Given the description of an element on the screen output the (x, y) to click on. 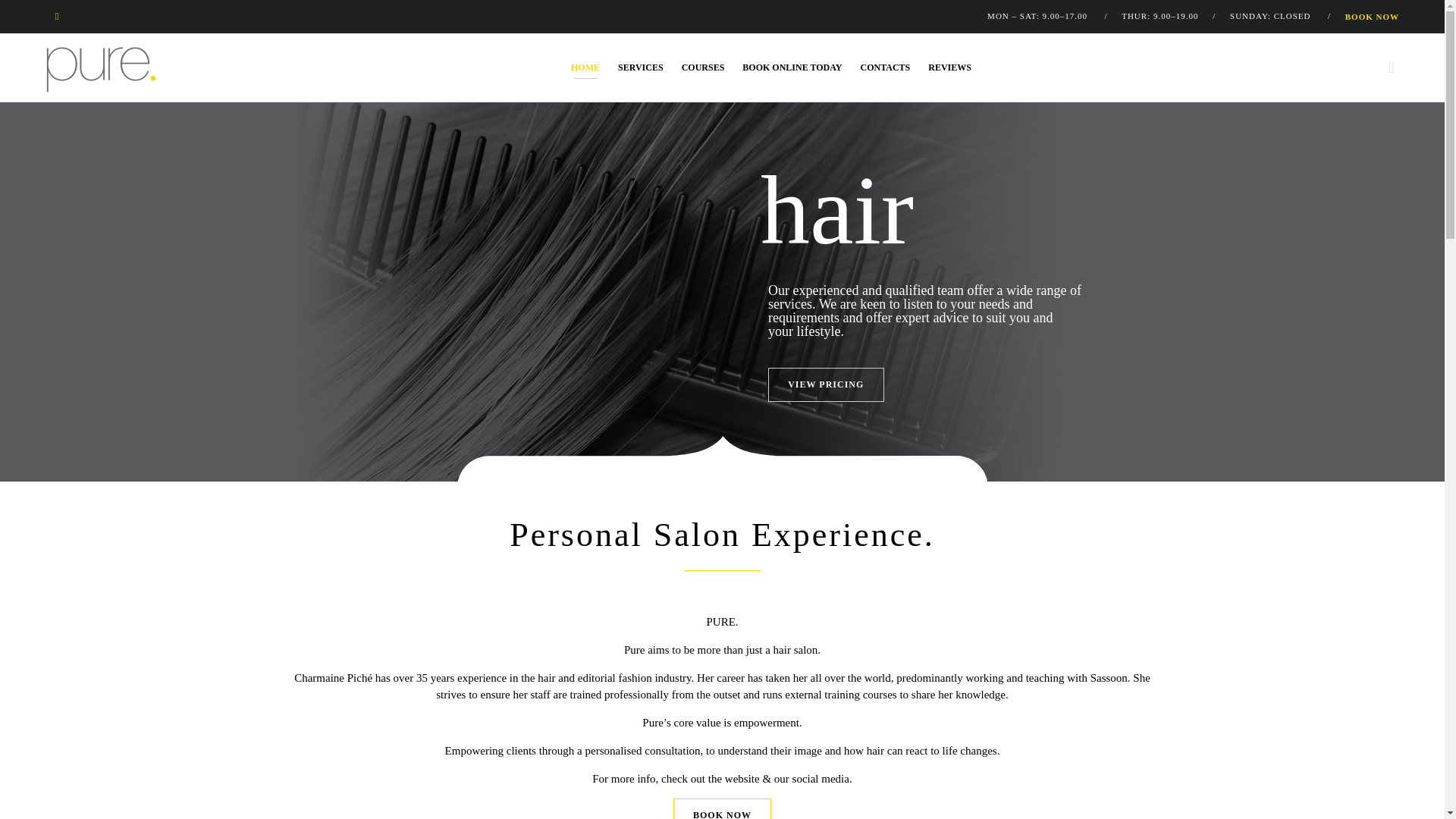
CONTACTS (884, 67)
SERVICES (640, 67)
REVIEWS (948, 67)
BOOK ONLINE TODAY (791, 67)
BOOK NOW (721, 808)
Pure Colchester (101, 69)
VIEW PRICING (825, 384)
HOME (585, 67)
BOOK NOW (1372, 17)
COURSES (702, 67)
